Given the description of an element on the screen output the (x, y) to click on. 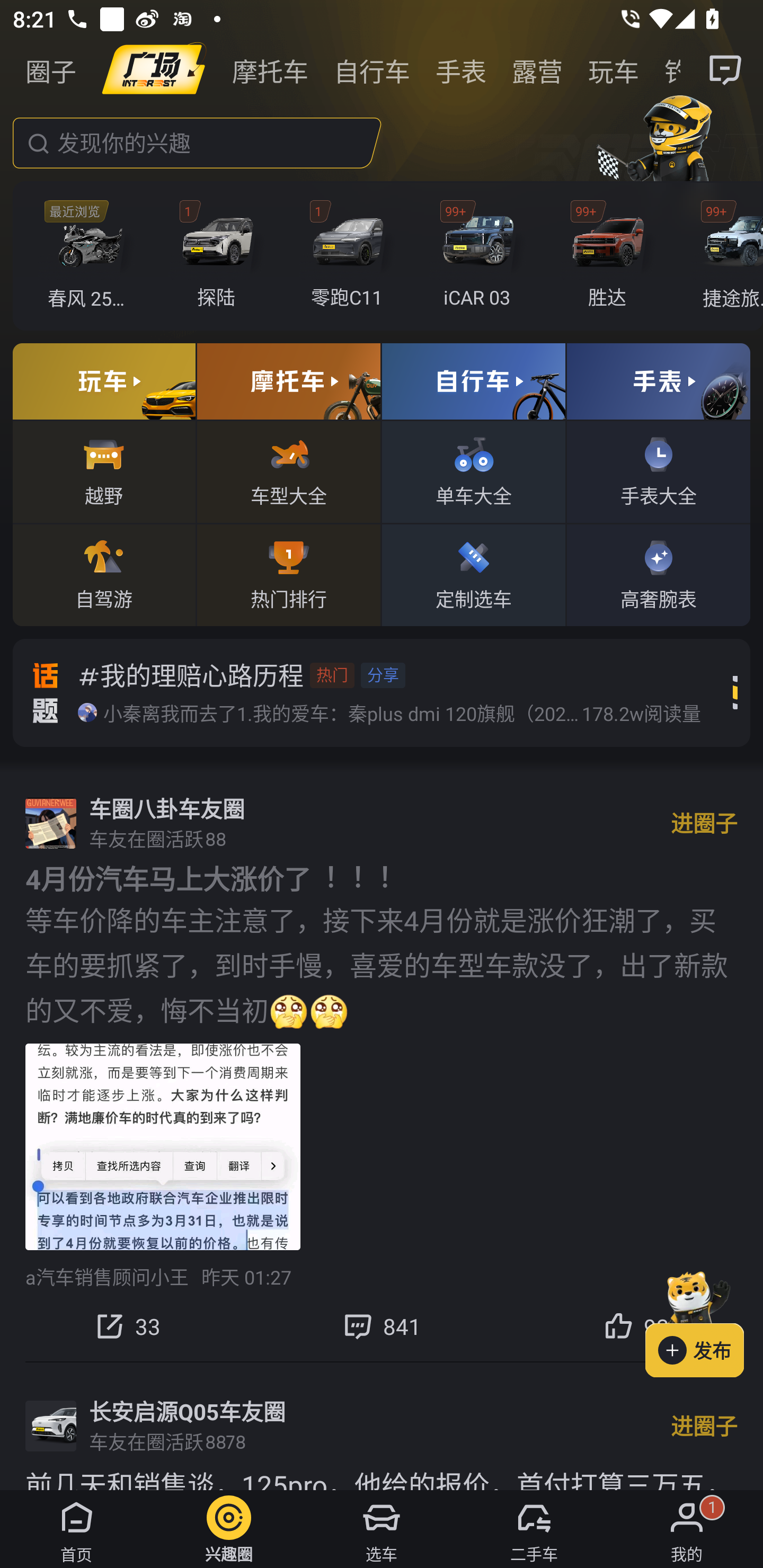
圈子 (50, 69)
image (153, 69)
摩托车 (269, 69)
自行车 (372, 69)
手表 (460, 69)
露营 (537, 69)
玩车 (613, 69)
 (726, 69)
春风 250SR (90, 256)
1 探陆 (220, 256)
1 零跑C11 (351, 256)
99+ iCAR 03 (481, 256)
99+ 胜达 (611, 256)
99+ 捷途旅行者 (726, 256)
越野 (103, 471)
车型大全 (288, 471)
单车大全 (473, 471)
手表大全 (658, 471)
自驾游 (103, 574)
热门排行 (288, 574)
定制选车 (473, 574)
高奢腕表 (658, 574)
车圈八卦车友圈 车友在圈活跃 88 进圈子 (381, 822)
发布 (704, 1320)
 33 (127, 1326)
 841 (381, 1326)
93 (635, 1326)
93 (635, 1326)
长安启源Q05车友圈 车友在圈活跃 8878 进圈子 (381, 1425)
 首页 (76, 1528)
兴趣圈 (228, 1528)
 选车 (381, 1528)
 二手车 (533, 1528)
 我的 (686, 1528)
